Given the description of an element on the screen output the (x, y) to click on. 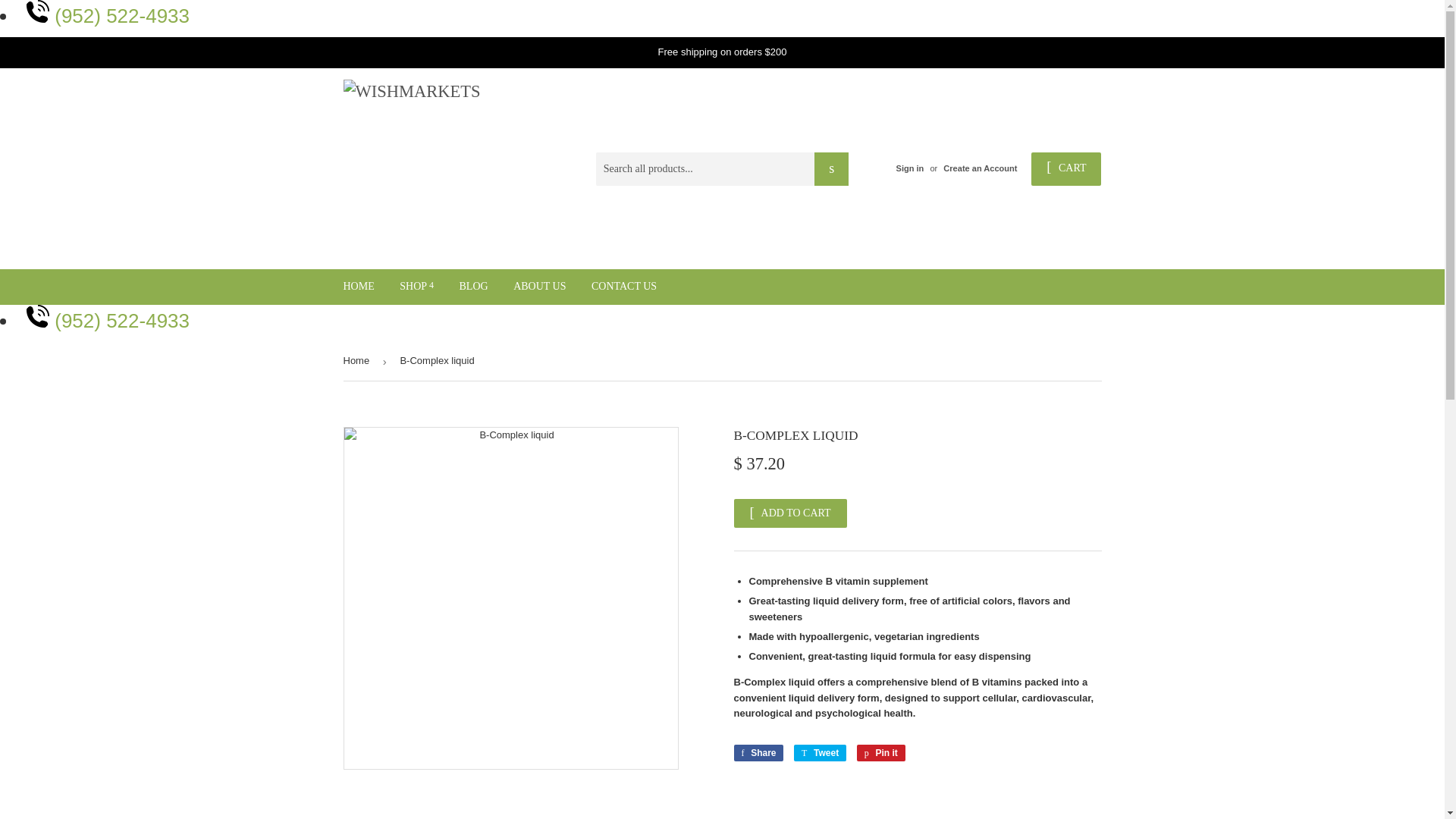
CONTACT US (623, 286)
Create an Account (979, 167)
Tweet on Twitter (819, 752)
Pin on Pinterest (881, 752)
HOME (358, 286)
Search (830, 168)
CART (1065, 168)
Share on Facebook (758, 752)
BLOG (473, 286)
Sign in (910, 167)
ABOUT US (539, 286)
SHOP (416, 286)
